Given the description of an element on the screen output the (x, y) to click on. 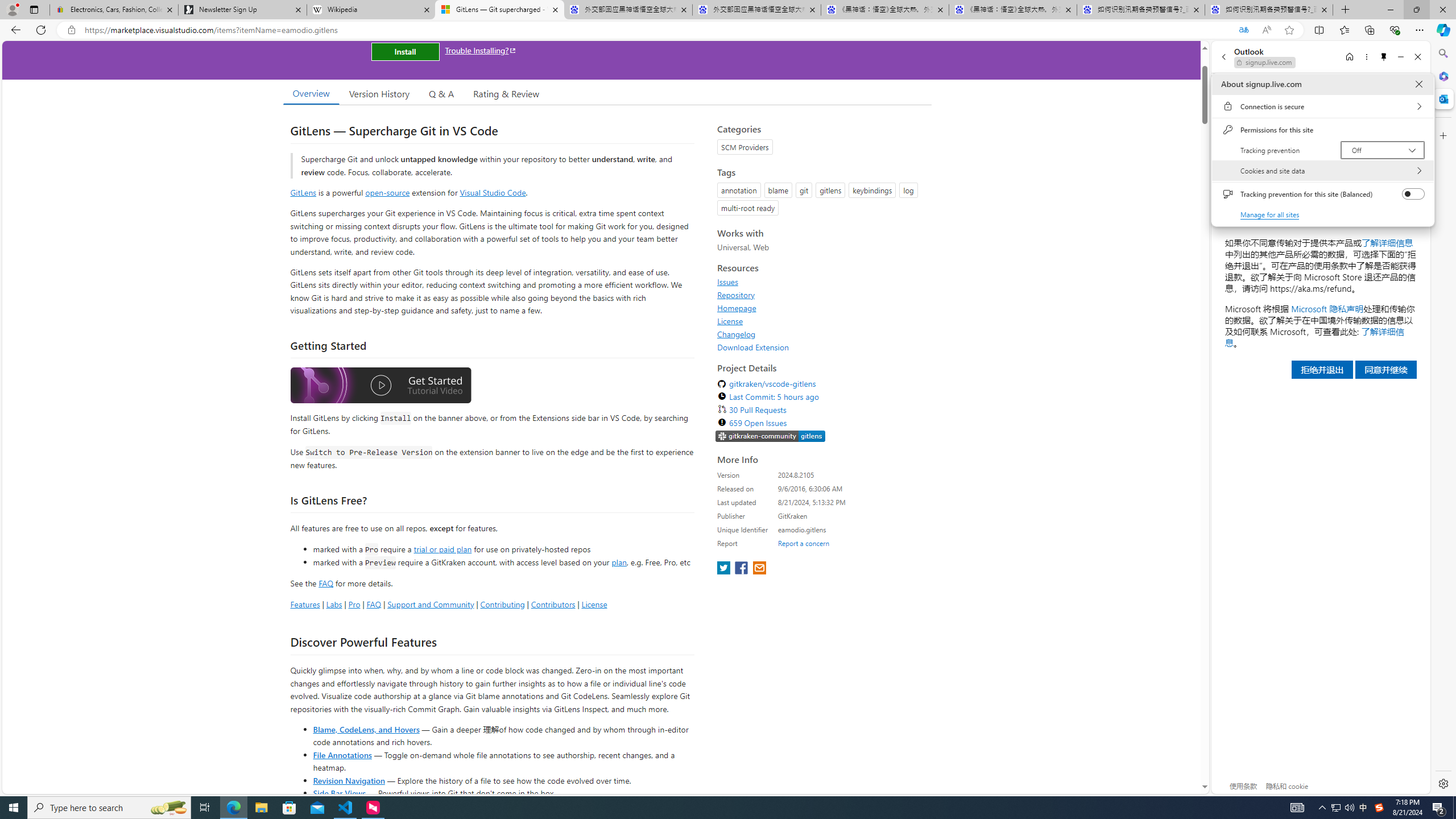
Tray Input Indicator - Chinese (Simplified, China) (1378, 807)
About signup.live.com (1418, 83)
Show desktop (1454, 807)
Cookies and site data (1322, 170)
Notification Chevron (1322, 807)
Visual Studio Code - 1 running window (345, 807)
Manage for all sites (1270, 214)
Permissions for this site (1322, 129)
Start (13, 807)
Action Center, 2 new notifications (1439, 807)
Tracking prevention for this site (Balanced) (1413, 193)
Tracking prevention Off (1382, 149)
Microsoft Edge - 1 running window (1335, 807)
